Given the description of an element on the screen output the (x, y) to click on. 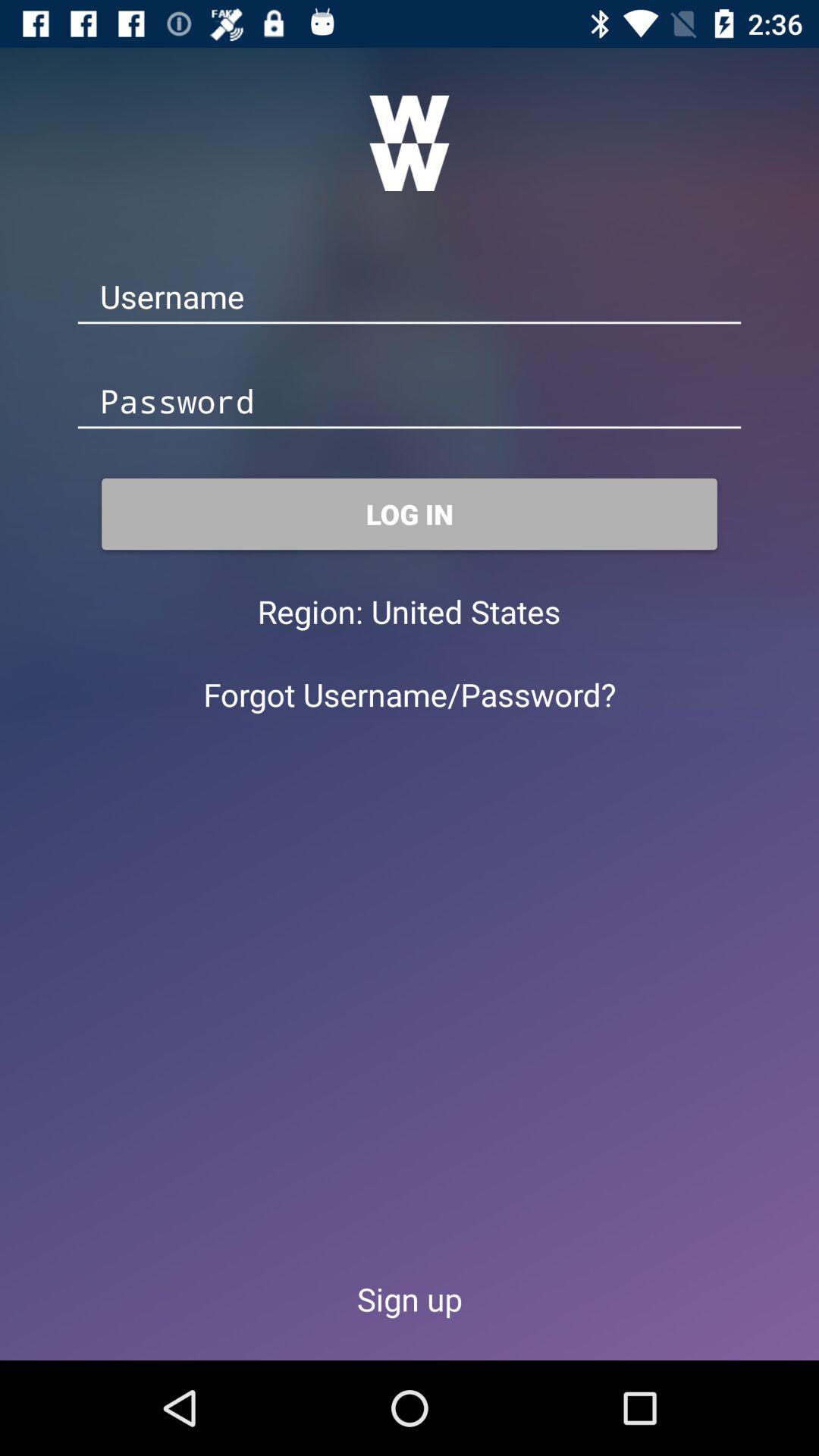
scroll until united states (465, 611)
